Given the description of an element on the screen output the (x, y) to click on. 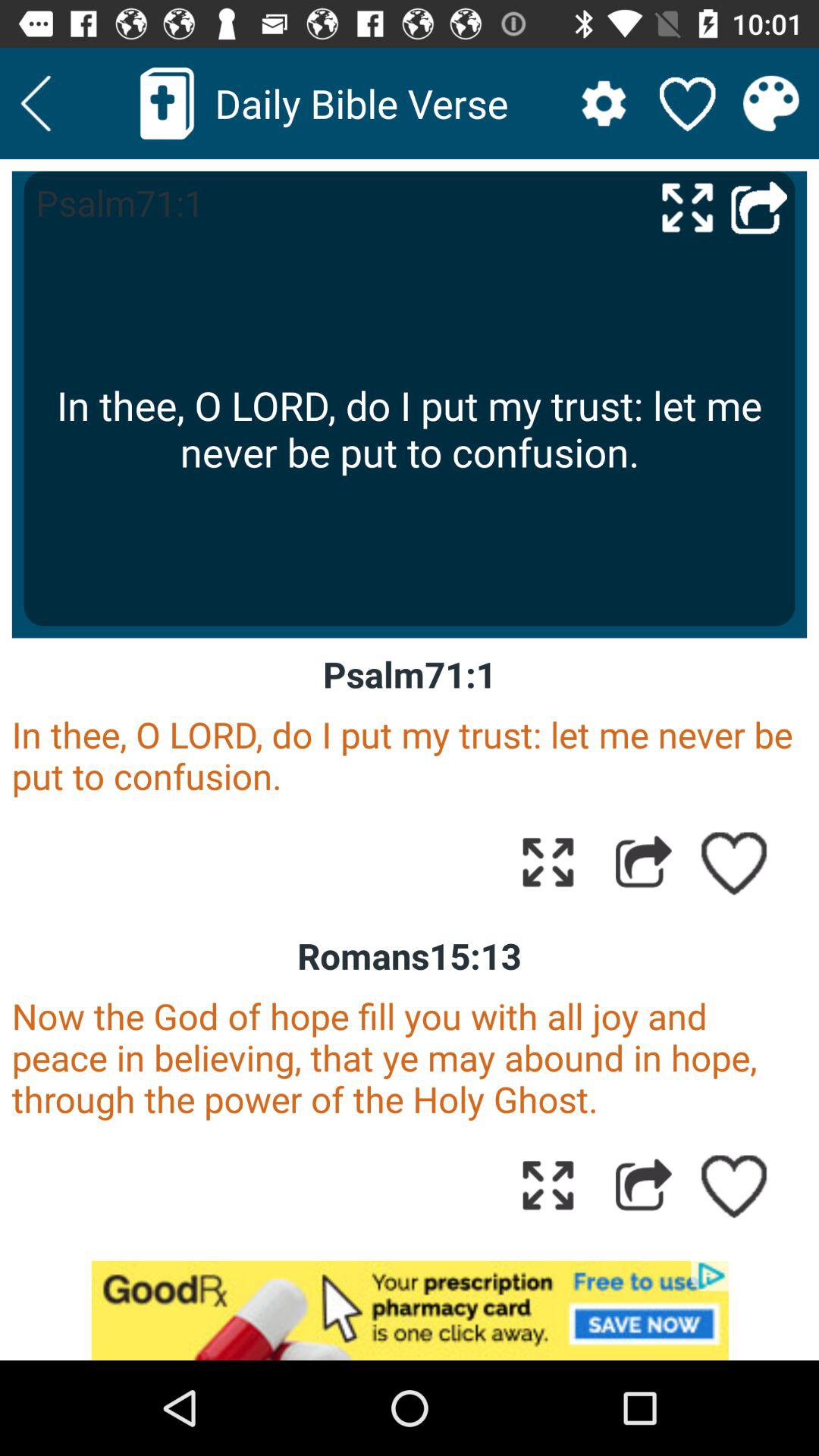
go back (35, 103)
